Given the description of an element on the screen output the (x, y) to click on. 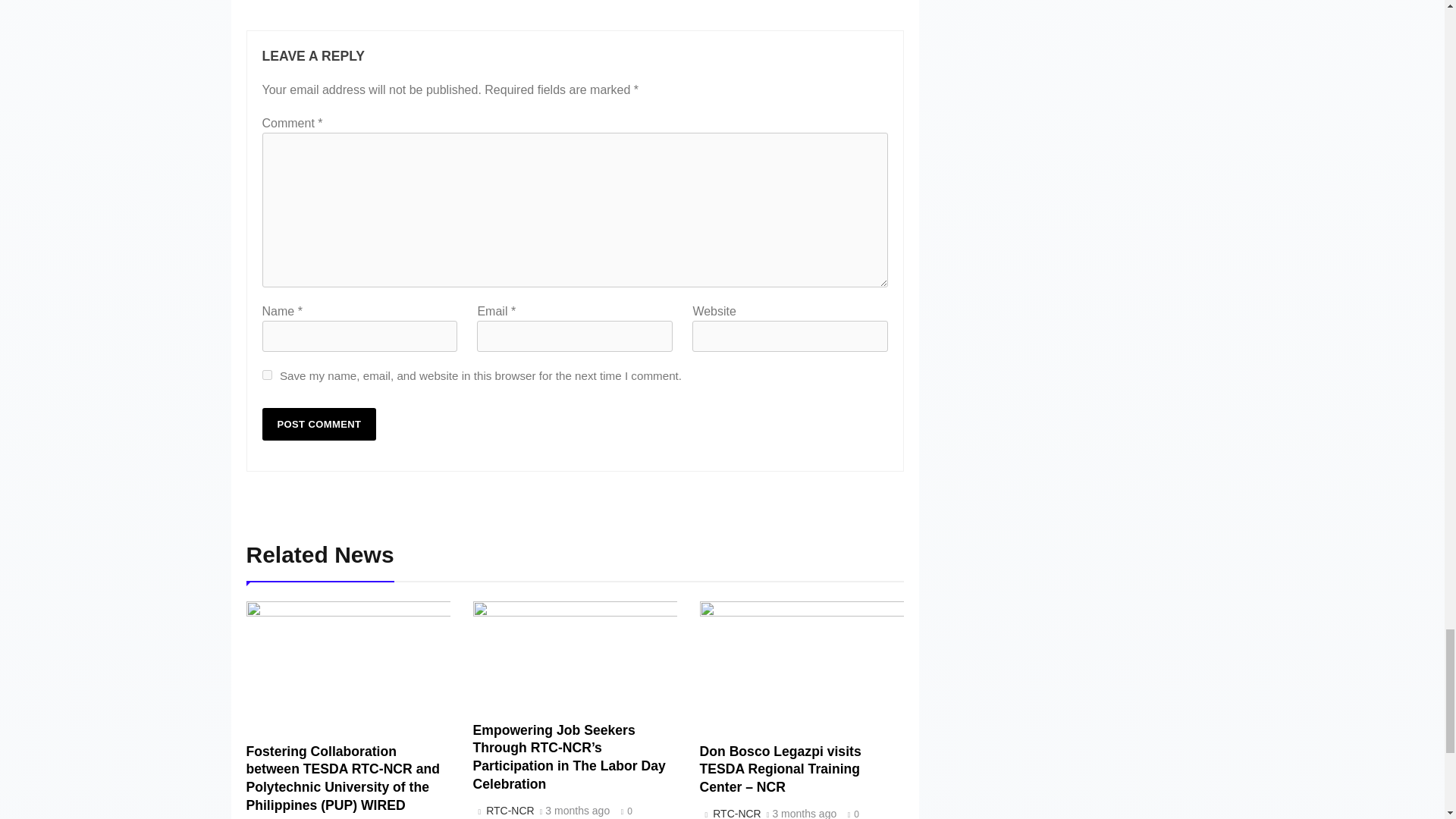
yes (267, 375)
Post Comment (319, 423)
